Given the description of an element on the screen output the (x, y) to click on. 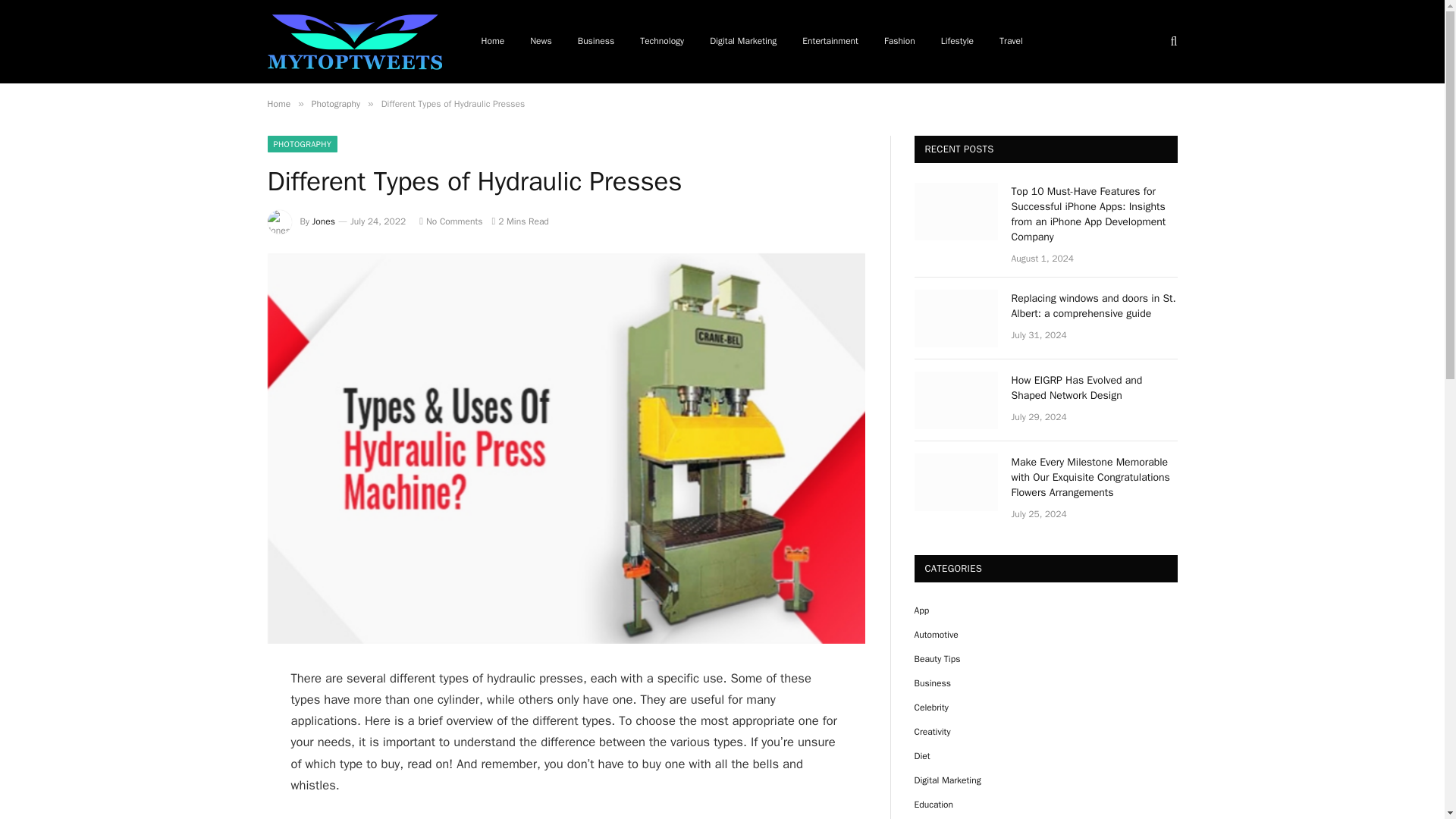
Photography (335, 103)
Home (277, 103)
Jones (323, 221)
mytoptweets.net (353, 40)
Digital Marketing (743, 41)
No Comments (450, 221)
PHOTOGRAPHY (301, 143)
